Given the description of an element on the screen output the (x, y) to click on. 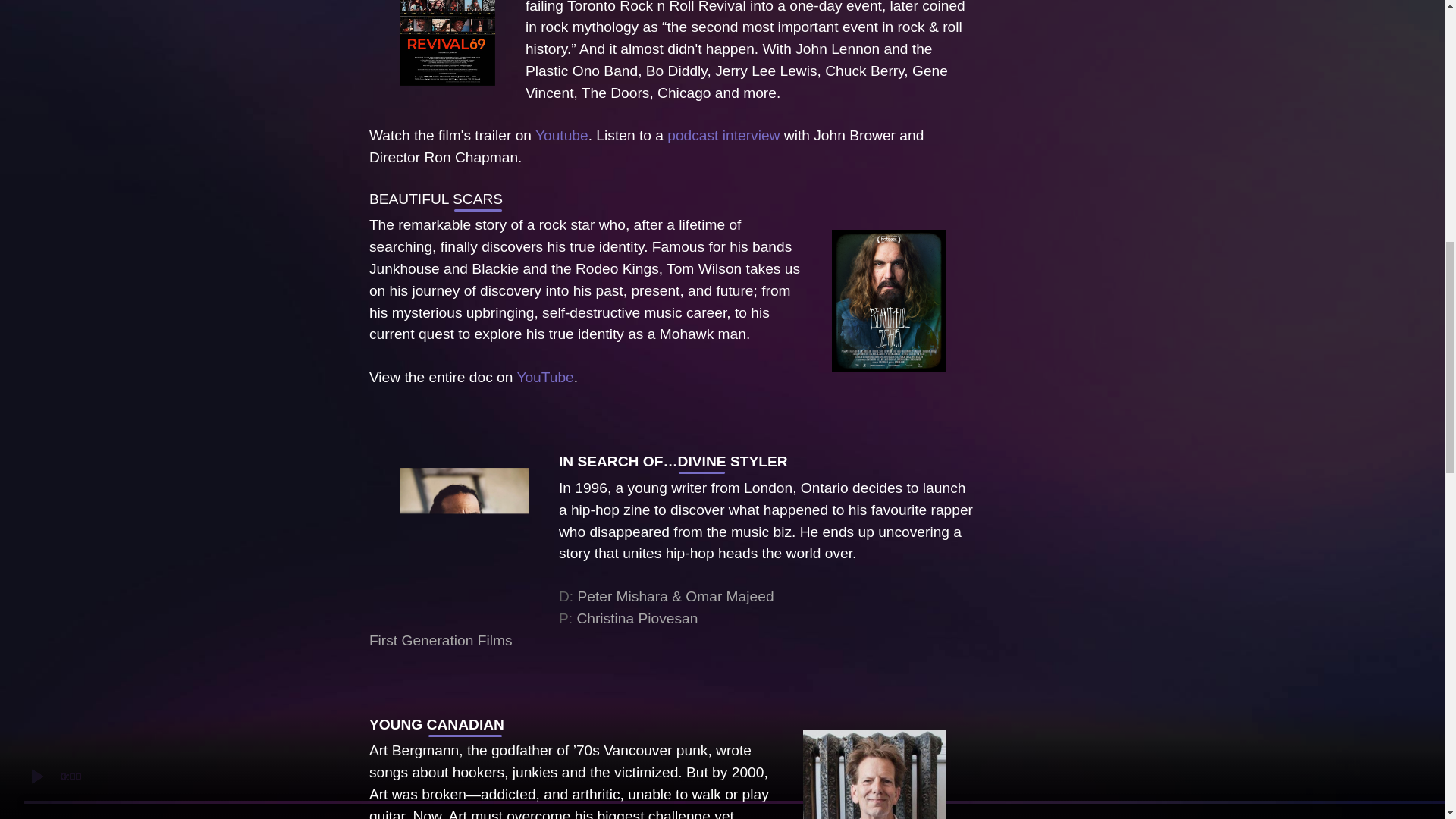
podcast interview (722, 135)
Youtube (561, 135)
YouTube (544, 376)
